Given the description of an element on the screen output the (x, y) to click on. 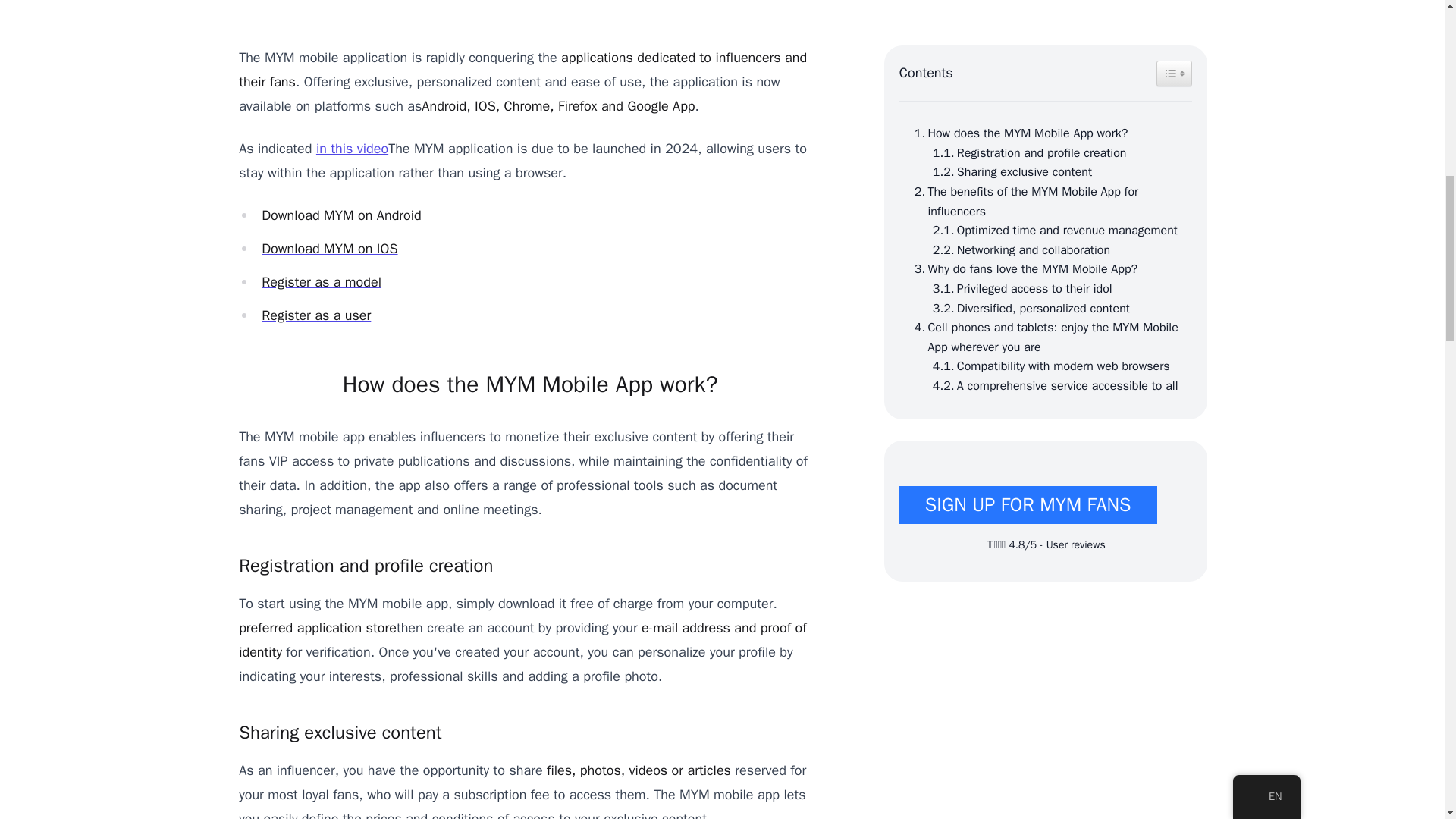
Sharing exclusive content (1008, 172)
Download MYM on Android (342, 215)
How does the MYM Mobile App work? (1017, 134)
Register as a model (321, 281)
The benefits of the MYM Mobile App for influencers (1046, 201)
Networking and collaboration (1016, 250)
Register as a user (316, 315)
Download MYM on IOS (329, 248)
Diversified, personalized content (1026, 309)
Diversified, personalized content (1026, 309)
Why do fans love the MYM Mobile App? (1022, 270)
Compatibility with modern web browsers (1047, 366)
Sharing exclusive content (1008, 172)
The benefits of the MYM Mobile App for influencers (1046, 201)
